Given the description of an element on the screen output the (x, y) to click on. 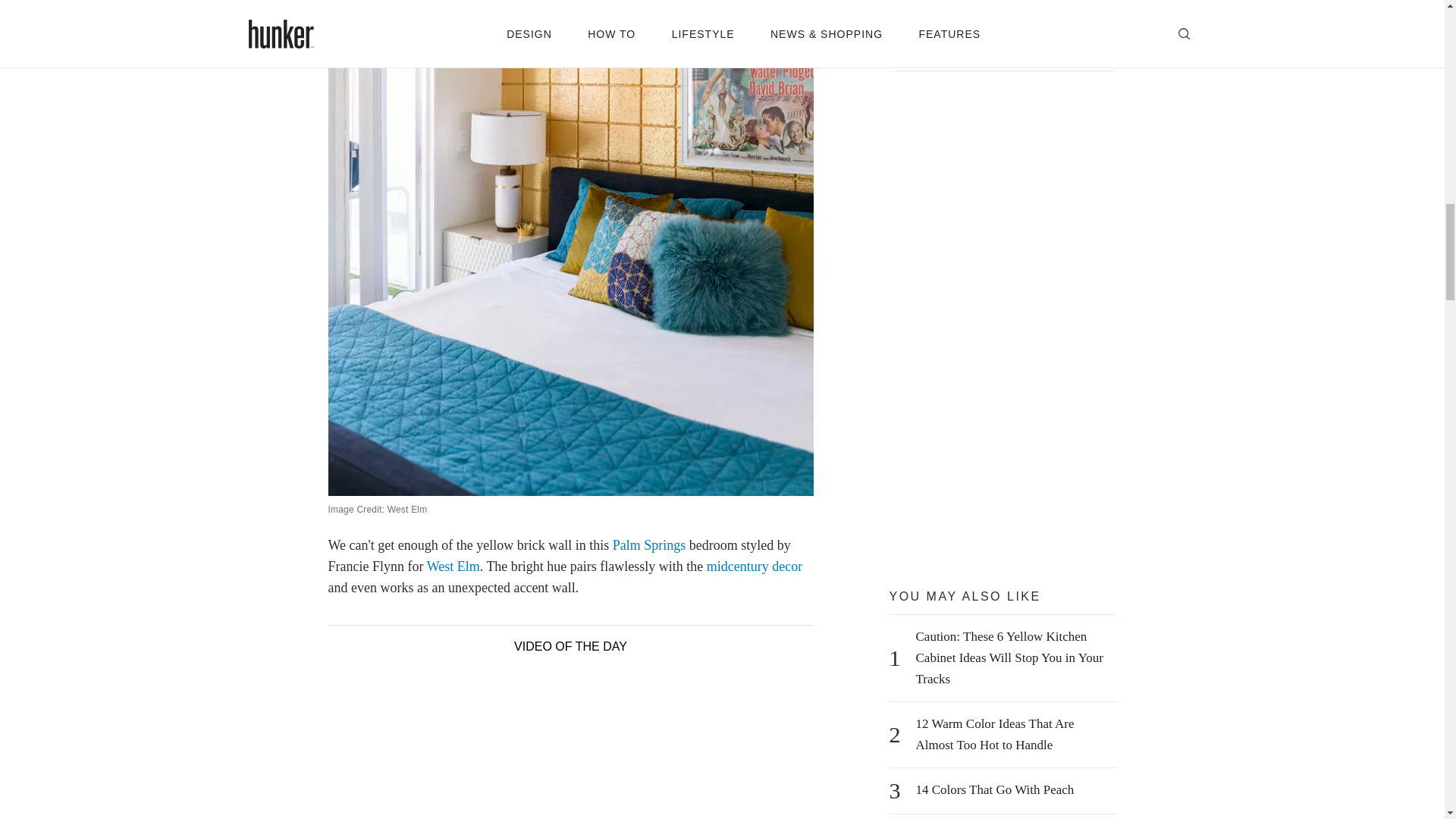
8 Bold Red Bedroom Ideas That Aren't for the Color Averse (1012, 37)
12 Warm Color Ideas That Are Almost Too Hot to Handle (1012, 734)
14 Colors That Go With Peach (994, 789)
